Given the description of an element on the screen output the (x, y) to click on. 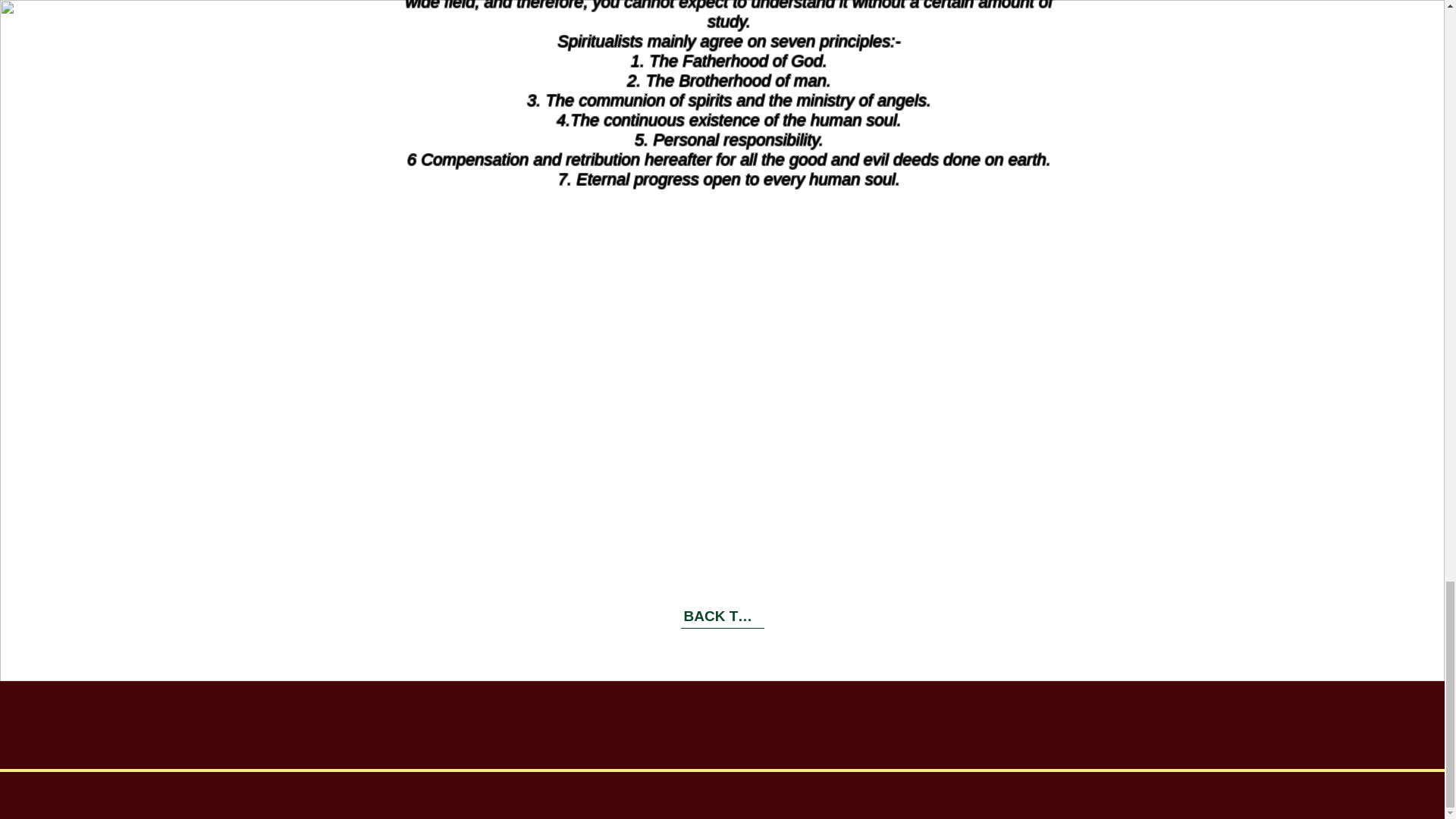
BACK TO TOP (722, 617)
